Given the description of an element on the screen output the (x, y) to click on. 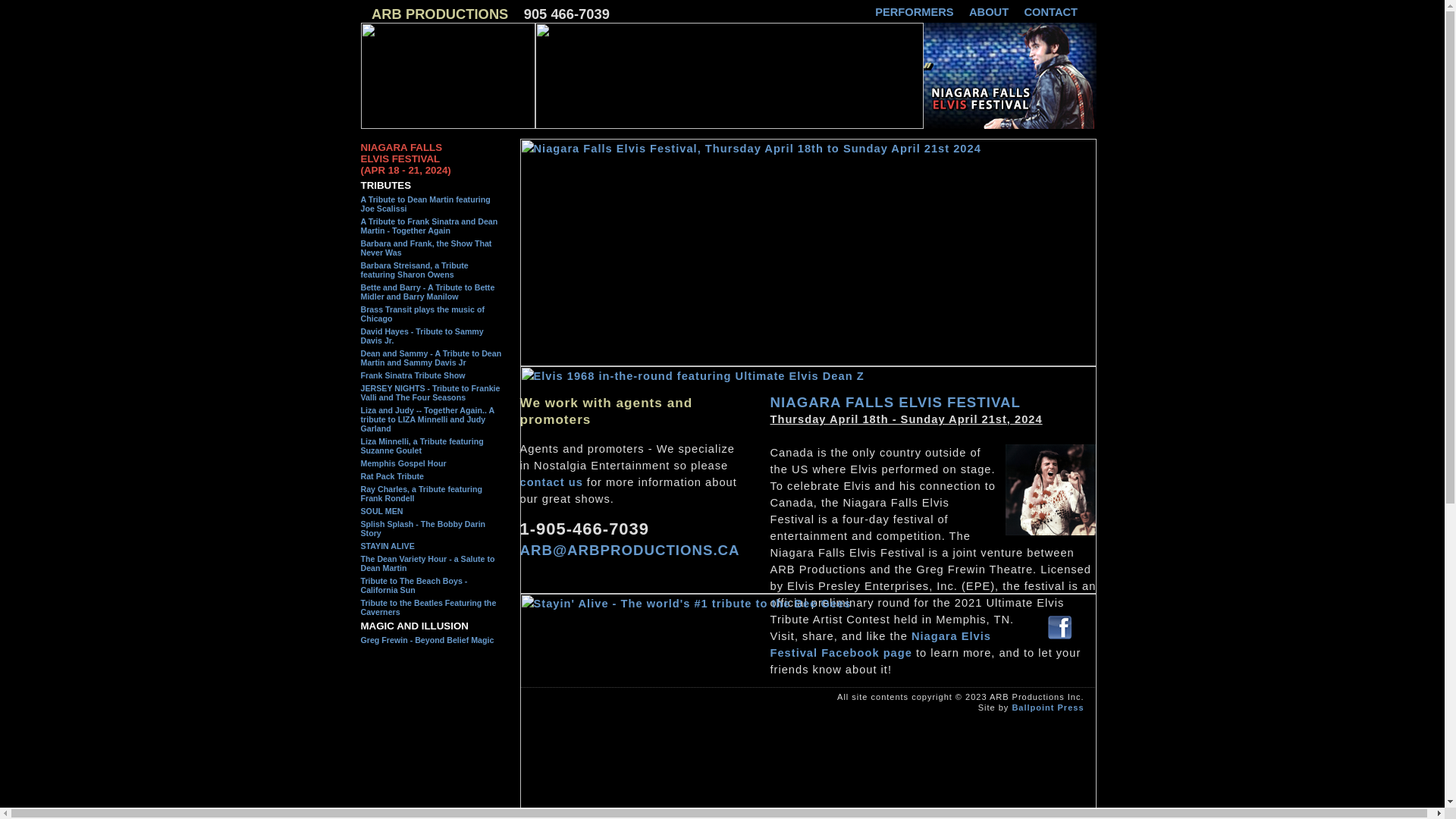
contact us Element type: text (551, 482)
ARB@ARBPRODUCTIONS.CA Element type: text (630, 550)
Frank Sinatra Tribute Show Element type: text (412, 374)
STAYIN ALIVE Element type: text (387, 545)
Greg Frewin - Beyond Belief Magic Element type: text (427, 639)
Liza Minnelli, a Tribute featuring Suzanne Goulet Element type: text (421, 445)
Niagara Elvis Festival Facebook page Element type: text (880, 644)
NIAGARA FALLS ELVIS FESTIVAL Element type: text (895, 402)
The Dean Variety Hour - a Salute to Dean Martin Element type: text (427, 563)
Barbara Streisand, a Tribute featuring Sharon Owens Element type: text (414, 269)
MAGIC AND ILLUSION Element type: text (414, 625)
Memphis Gospel Hour Element type: text (403, 462)
Tribute to The Beach Boys - California Sun Element type: text (413, 585)
Barbara and Frank, the Show That Never Was Element type: text (426, 247)
Brass Transit plays the music of Chicago Element type: text (422, 313)
PERFORMERS Element type: text (914, 12)
Ray Charles, a Tribute featuring Frank Rondell Element type: text (421, 493)
Rat Pack Tribute Element type: text (392, 475)
Dean and Sammy - A Tribute to Dean Martin and Sammy Davis Jr Element type: text (431, 357)
Ballpoint Press Element type: text (1047, 707)
SOUL MEN Element type: text (381, 510)
CONTACT Element type: text (1050, 12)
NIAGARA FALLS
ELVIS FESTIVAL (APR 18 - 21, 2024) Element type: text (405, 158)
Splish Splash - The Bobby Darin Story Element type: text (423, 528)
ARB PRODUCTIONS Element type: text (439, 13)
A Tribute to Dean Martin featuring Joe Scalissi Element type: text (425, 203)
A Tribute to Frank Sinatra and Dean Martin - Together Again Element type: text (429, 225)
TRIBUTES Element type: text (385, 185)
ABOUT Element type: text (988, 12)
Tribute to the Beatles Featuring the Caverners Element type: text (428, 607)
David Hayes - Tribute to Sammy Davis Jr. Element type: text (421, 335)
